Given the description of an element on the screen output the (x, y) to click on. 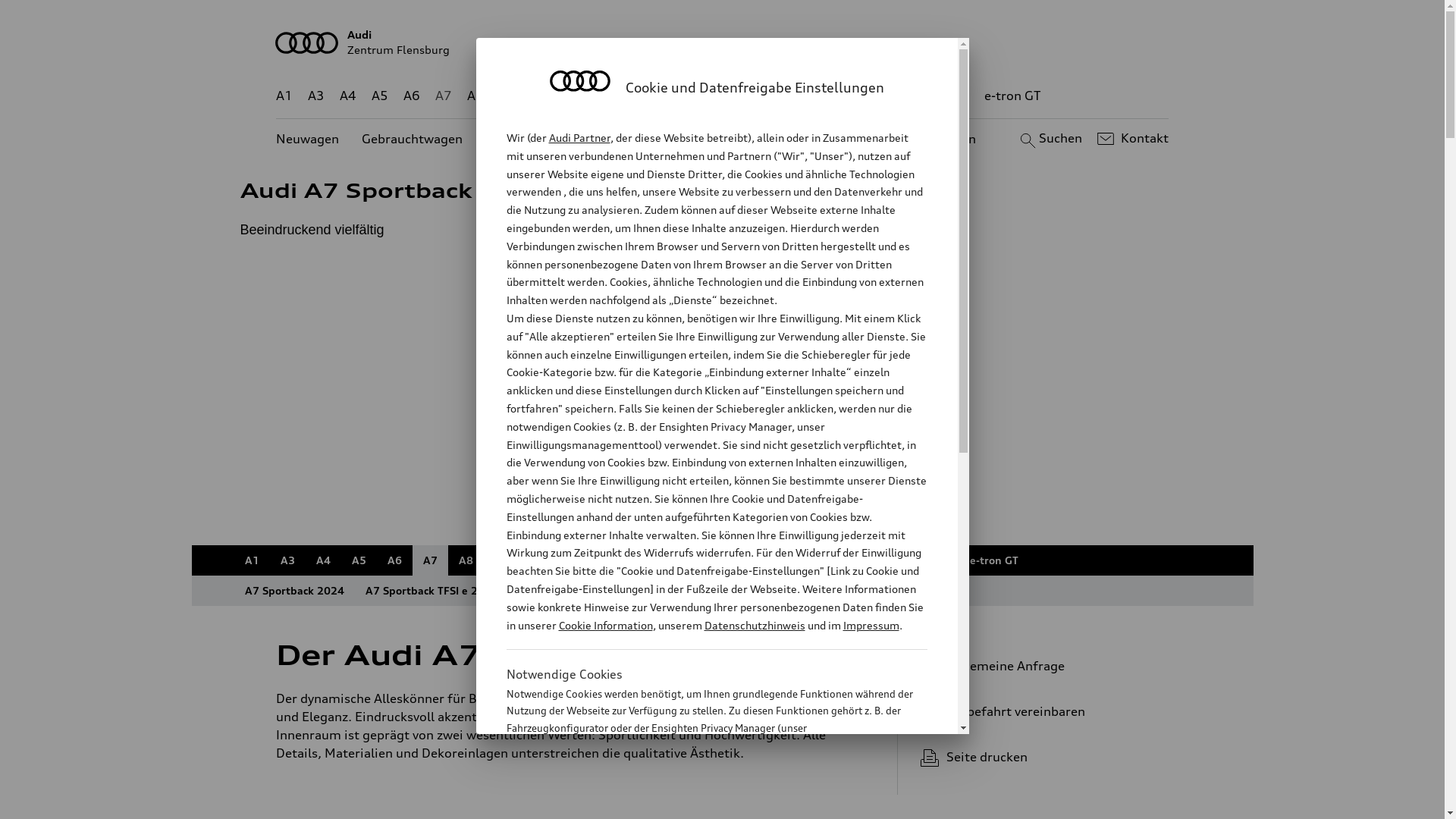
A5 Element type: text (379, 95)
Suchen Element type: text (1049, 138)
RS 7 Sportback 2024 Element type: text (711, 590)
TT Element type: text (818, 560)
Datenschutzhinweis Element type: text (753, 624)
Q8 e-tron Element type: text (763, 95)
Q5 Element type: text (642, 560)
A4 Element type: text (347, 95)
g-tron Element type: text (932, 560)
A7 Sportback 2024 Element type: text (293, 590)
A8 Element type: text (465, 560)
Allgemeine Anfrage Element type: text (1038, 665)
A6 Element type: text (393, 560)
A5 Element type: text (358, 560)
TT Element type: text (814, 95)
A4 Element type: text (322, 560)
Q2 Element type: text (507, 95)
Gebrauchtwagen Element type: text (411, 139)
Q8 Element type: text (713, 560)
Neuwagen Element type: text (307, 139)
Impressum Element type: text (871, 624)
A7 Element type: text (430, 560)
Q3 Element type: text (540, 95)
RS 7 Sportback performance 2024 Element type: text (874, 590)
Q3 Element type: text (536, 560)
Audi
Zentrum Flensburg Element type: text (722, 42)
Q4 e-tron Element type: text (592, 95)
Q4 e-tron Element type: text (590, 560)
A1 Element type: text (284, 95)
RS Element type: text (908, 95)
Q2 Element type: text (501, 560)
Cookie Information Element type: text (605, 624)
Angebote Element type: text (636, 139)
Q7 Element type: text (678, 95)
e-tron GT Element type: text (993, 560)
A6 Element type: text (411, 95)
R8 Element type: text (852, 560)
e-tron GT Element type: text (1012, 95)
Q8 e-tron Element type: text (767, 560)
Q7 Element type: text (678, 560)
Seite drucken Element type: text (1044, 756)
A7 Sportback TFSI e 2024 Element type: text (431, 590)
Probefahrt vereinbaren Element type: text (1038, 711)
Audi Partner Element type: text (579, 137)
A3 Element type: text (315, 95)
A3 Element type: text (287, 560)
A1 Element type: text (251, 560)
R8 Element type: text (861, 95)
Q5 Element type: text (645, 95)
Cookie Information Element type: text (700, 802)
A8 Element type: text (475, 95)
g-tron Element type: text (950, 95)
Kundenservice Element type: text (730, 139)
S7 Sportback TDI 2024 Element type: text (577, 590)
Kontakt Element type: text (1130, 138)
A7 Element type: text (443, 95)
Q8 Element type: text (710, 95)
RS Element type: text (887, 560)
